Given the description of an element on the screen output the (x, y) to click on. 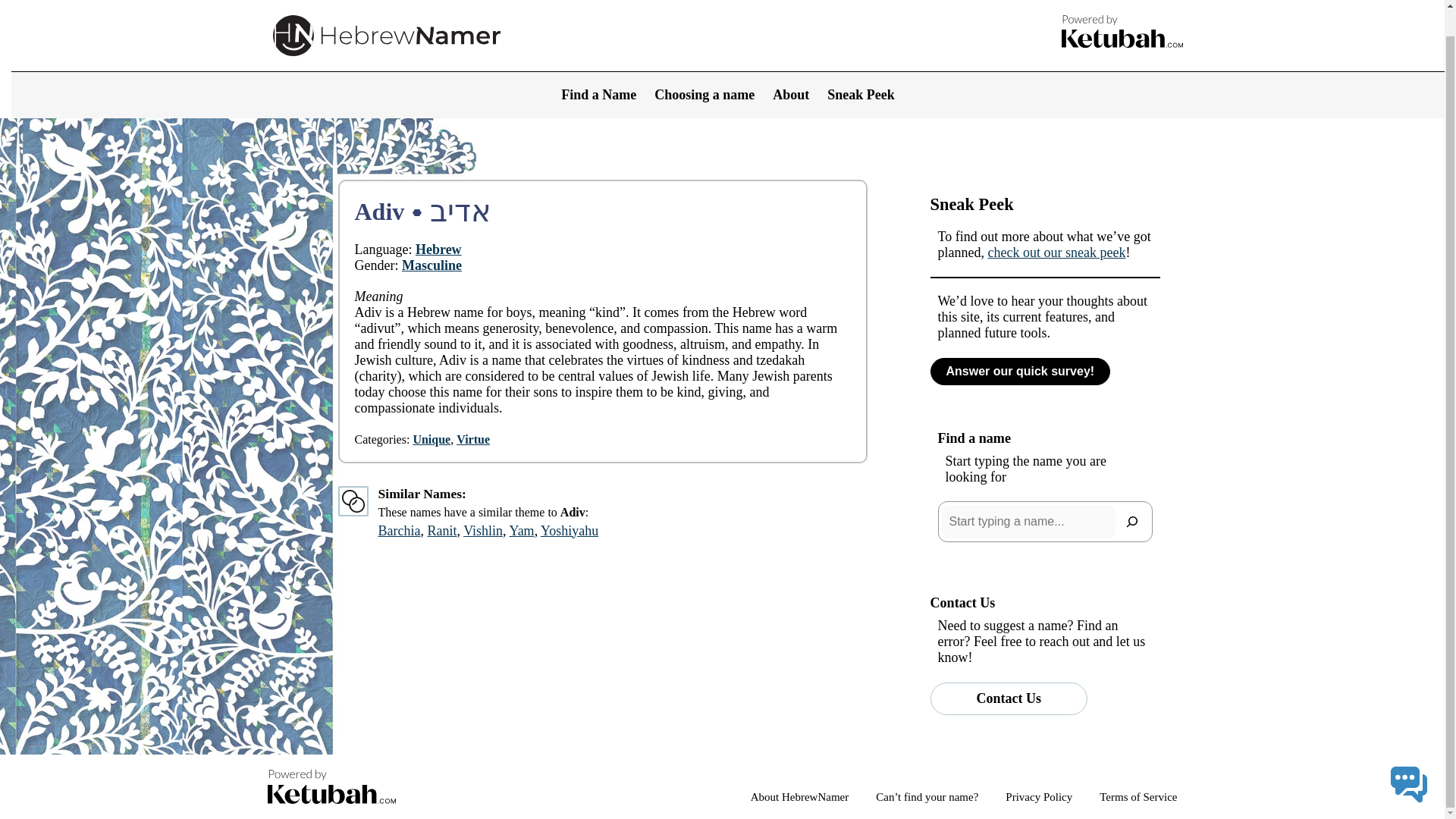
Unique (430, 439)
Find a Name (598, 68)
Sneak Peek (861, 68)
Contact Us (1008, 698)
Yoshiyahu (569, 530)
About HebrewNamer (799, 797)
Answer our quick survey! (1019, 370)
Virtue (473, 439)
Privacy Policy (1038, 797)
Barchia (398, 530)
Terms of Service (1137, 797)
Vishlin (482, 530)
check out our sneak peek (1056, 252)
About (791, 68)
Hebrew (437, 249)
